Given the description of an element on the screen output the (x, y) to click on. 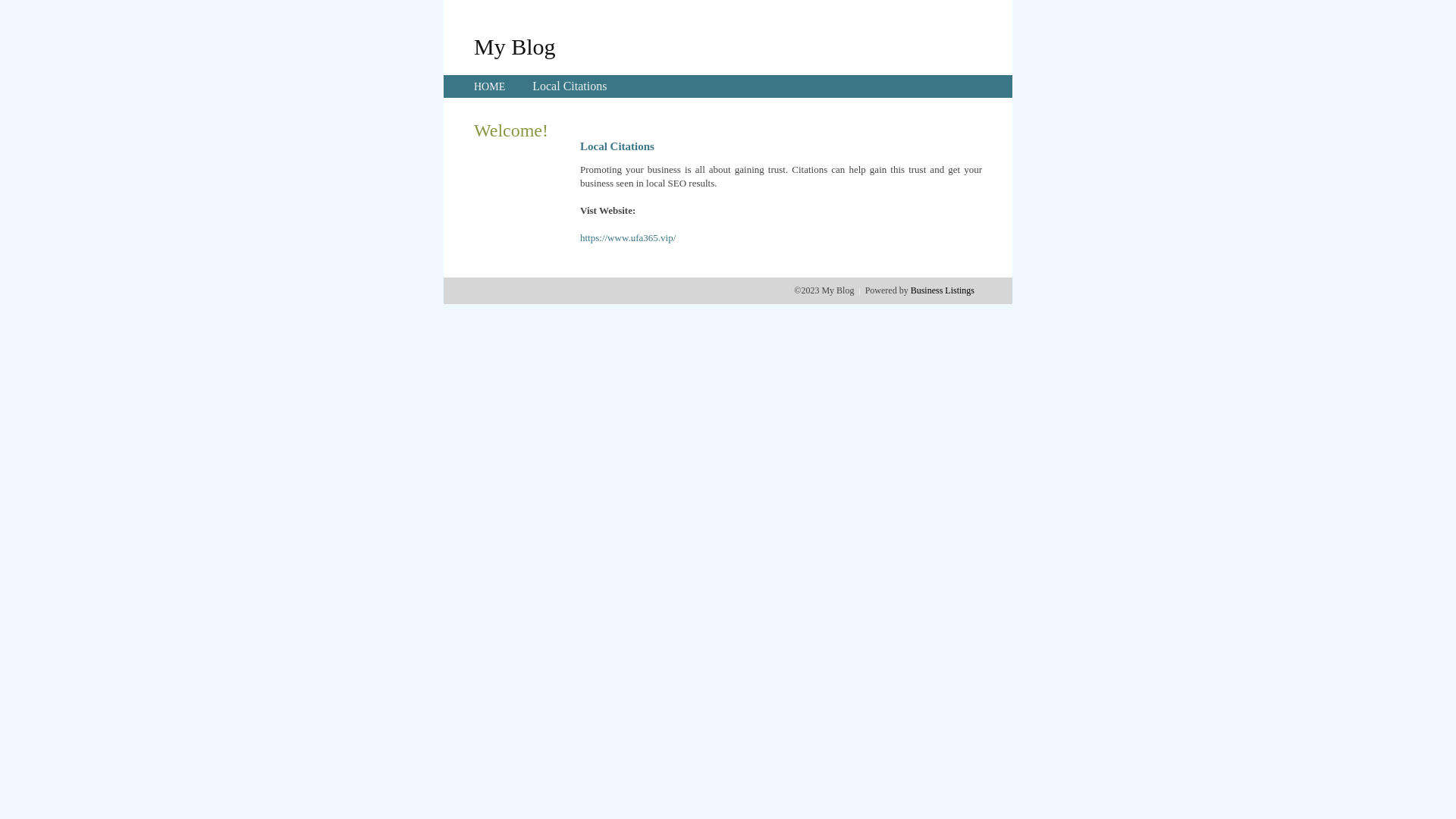
https://www.ufa365.vip/ Element type: text (627, 237)
Local Citations Element type: text (569, 85)
Business Listings Element type: text (942, 290)
HOME Element type: text (489, 86)
My Blog Element type: text (514, 46)
